Given the description of an element on the screen output the (x, y) to click on. 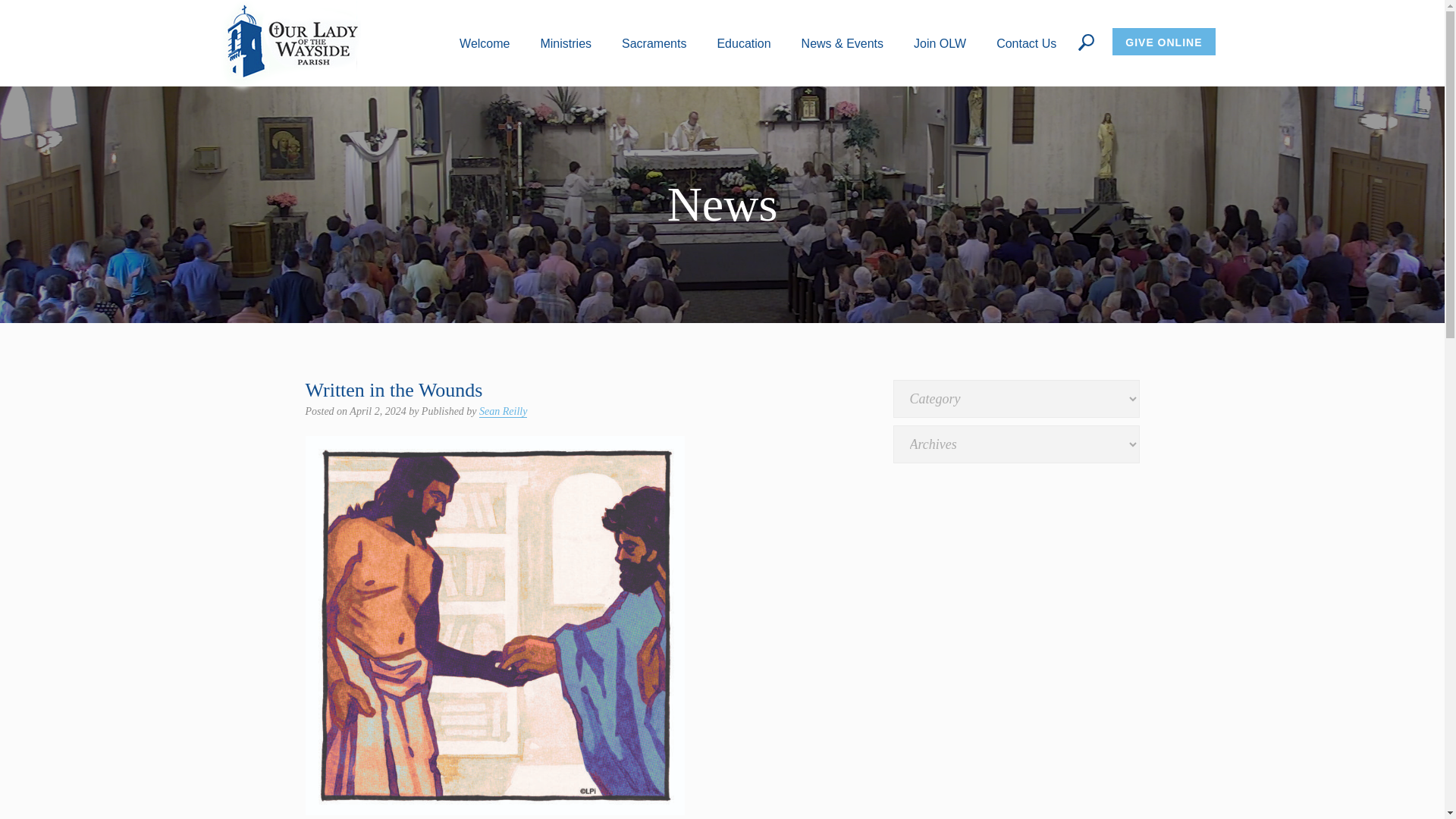
Contact Us (1026, 42)
Posts by Sean Reilly (503, 411)
Welcome (484, 42)
Sacraments (653, 42)
Join OLW (940, 42)
GIVE ONLINE (1163, 41)
Education (743, 42)
Ministries (565, 42)
